Given the description of an element on the screen output the (x, y) to click on. 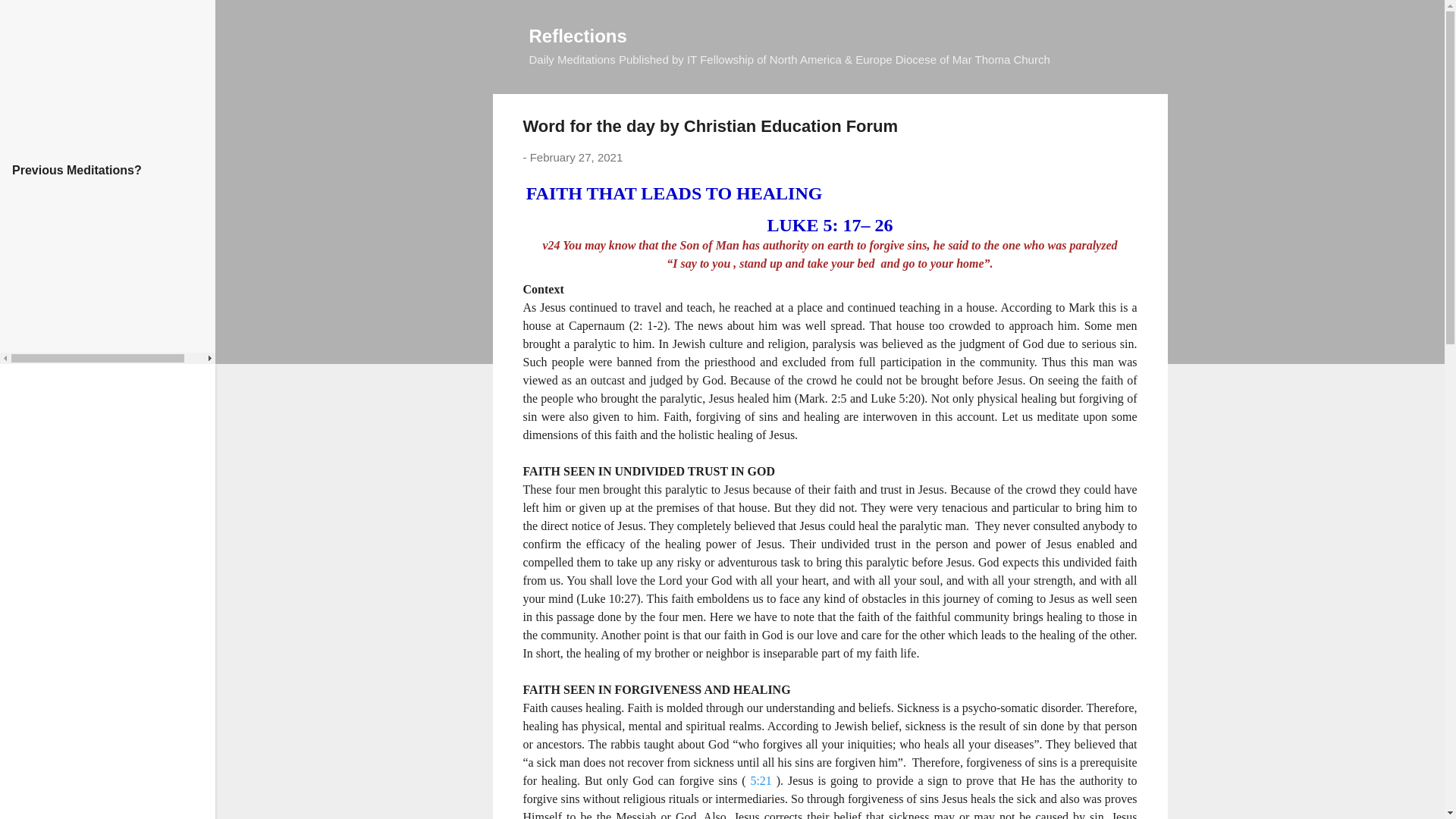
Search (29, 18)
5:21 (760, 780)
permanent link (576, 156)
Reflections (578, 35)
February 27, 2021 (576, 156)
